Given the description of an element on the screen output the (x, y) to click on. 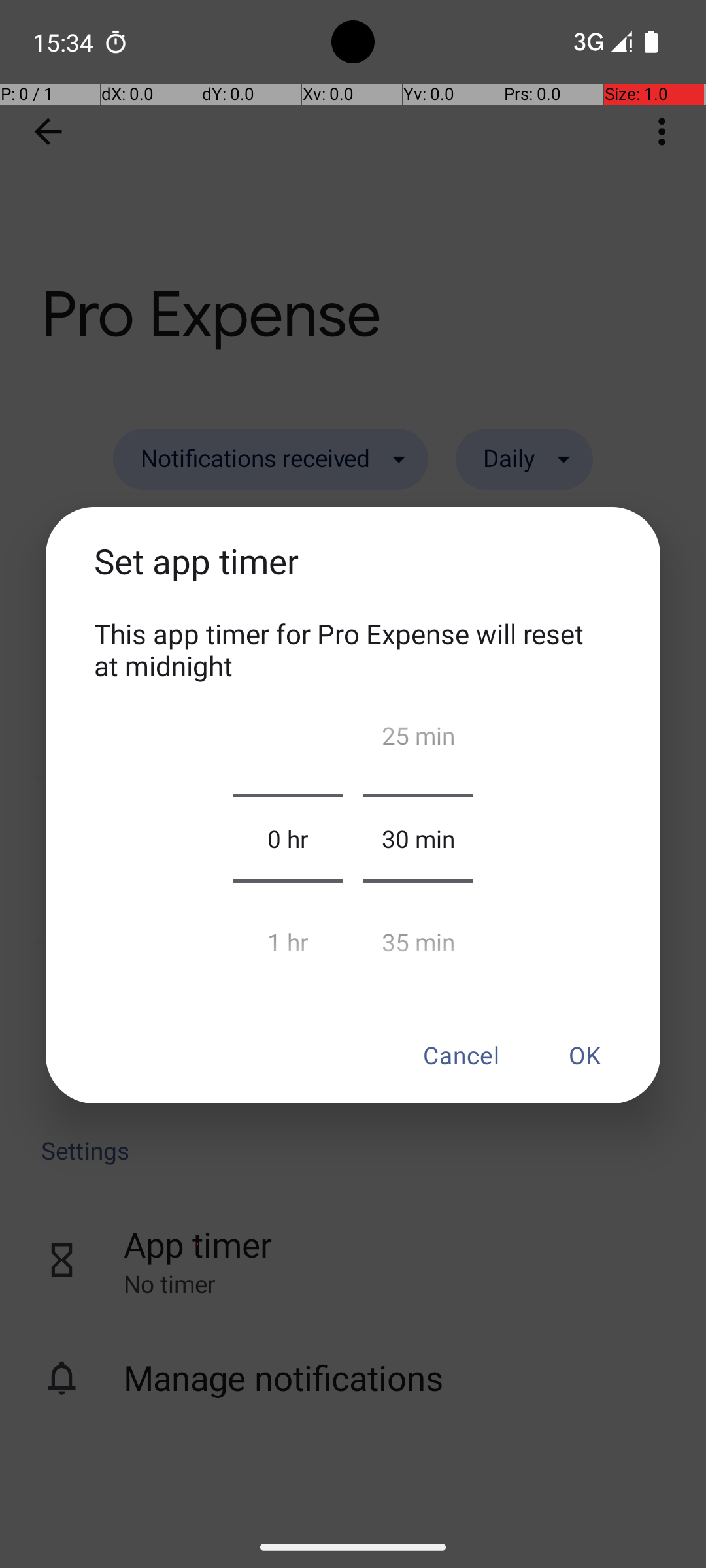
Set app timer Element type: android.widget.TextView (352, 575)
This app timer for Pro Expense will reset at midnight Element type: android.widget.TextView (352, 649)
0 hr Element type: android.widget.EditText (287, 838)
1 hr Element type: android.widget.Button (287, 936)
25 min Element type: android.widget.Button (418, 740)
30 min Element type: android.widget.EditText (418, 838)
35 min Element type: android.widget.Button (418, 936)
